Given the description of an element on the screen output the (x, y) to click on. 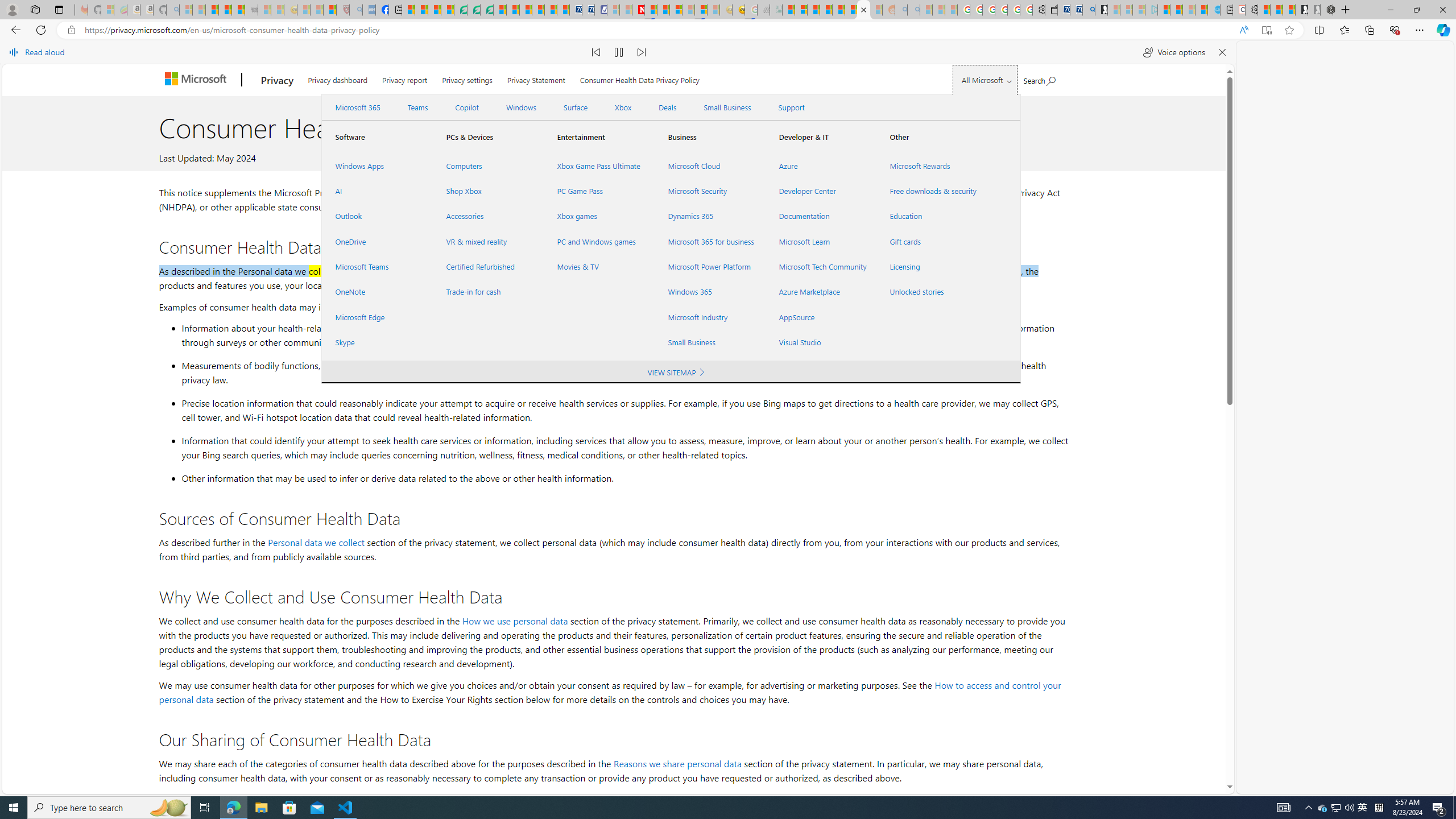
Consumer Health Data Privacy Policy (864, 9)
Documentation (820, 216)
Microsoft Industry (709, 317)
Microsoft Teams (376, 266)
Local - MSN (329, 9)
Azure Marketplace (820, 291)
Privacy dashboard (337, 77)
Xbox games (599, 216)
Teams (417, 107)
Microsoft Rewards (931, 165)
